Given the description of an element on the screen output the (x, y) to click on. 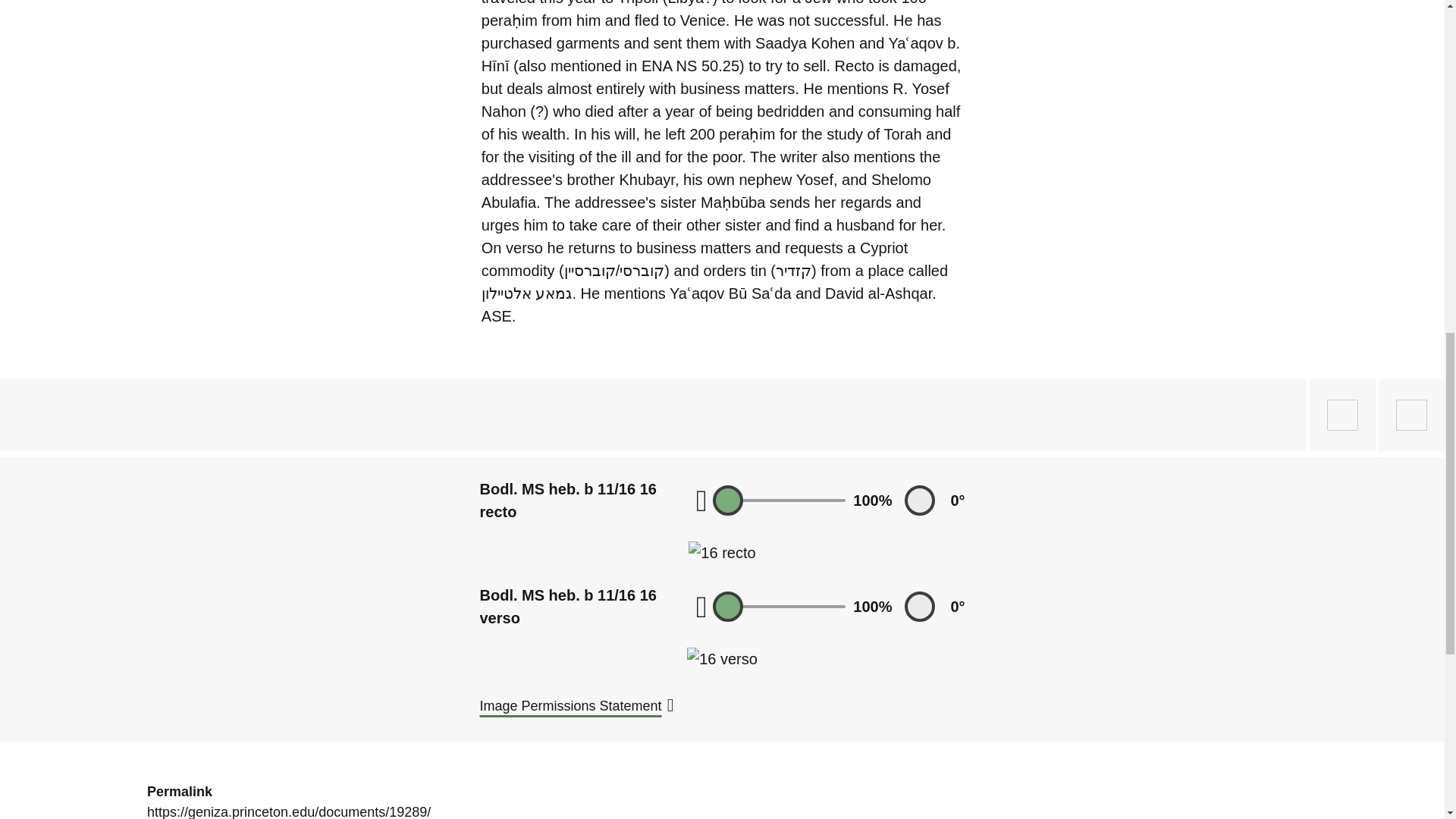
1 (779, 500)
16 verso (722, 658)
1 (779, 606)
16 recto (721, 552)
